Given the description of an element on the screen output the (x, y) to click on. 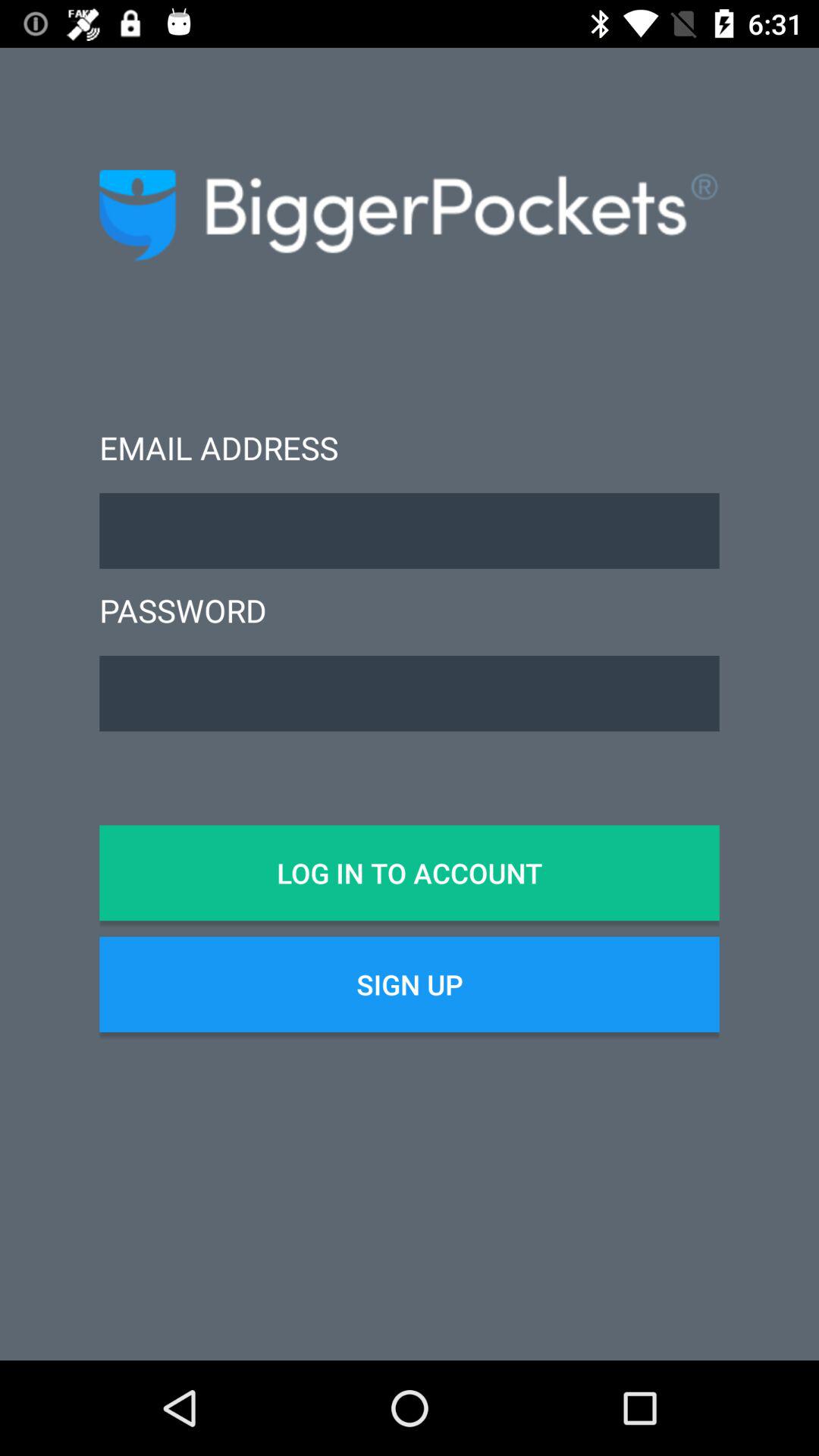
turn on the item below the log in to icon (409, 984)
